Given the description of an element on the screen output the (x, y) to click on. 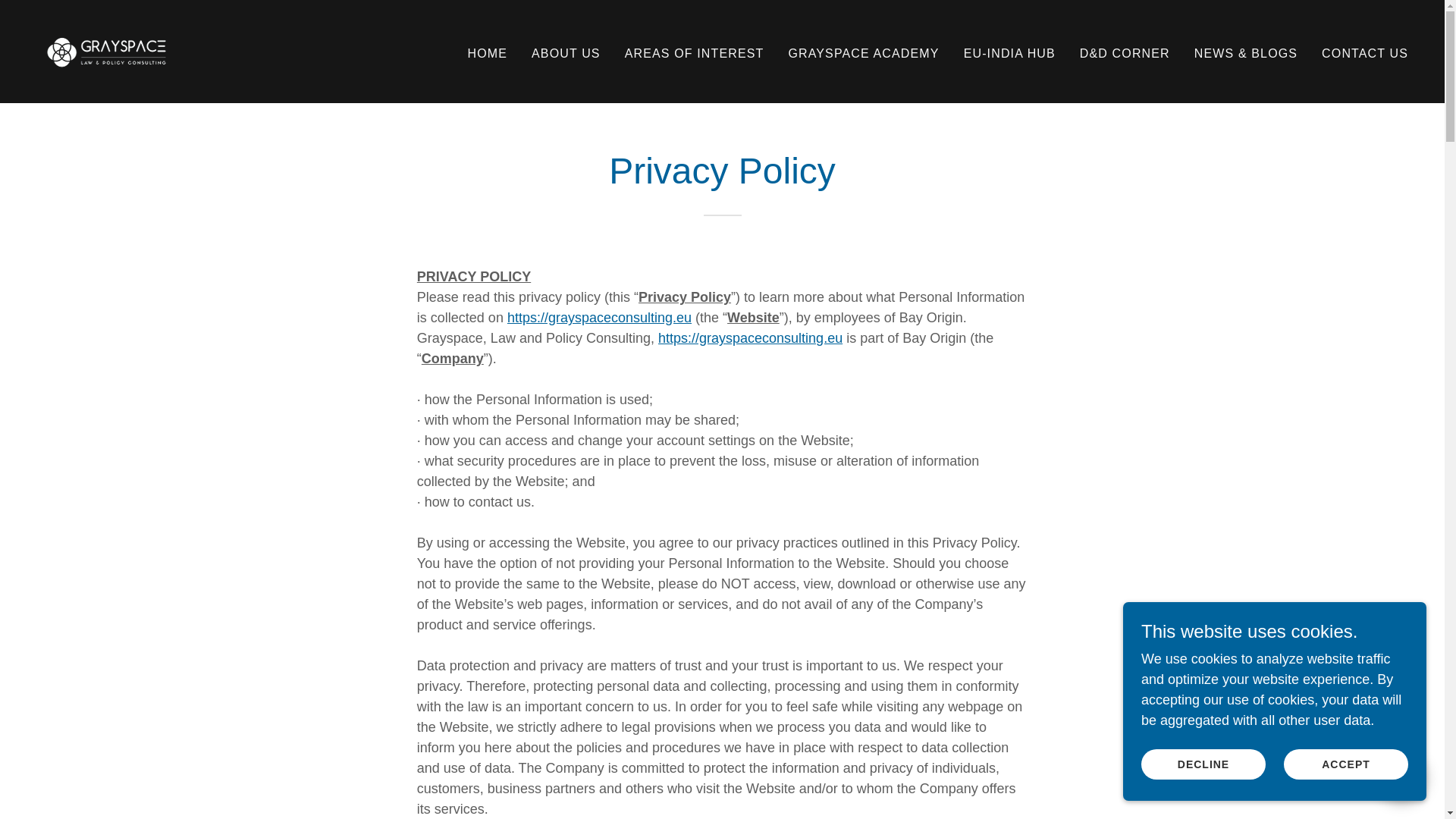
GRAYSPACE ACADEMY (863, 52)
ABOUT US (566, 52)
HOME (487, 52)
ACCEPT (1345, 764)
DECLINE (1203, 764)
CONTACT US (1364, 52)
EU-INDIA HUB (1009, 52)
AREAS OF INTEREST (694, 52)
